Given the description of an element on the screen output the (x, y) to click on. 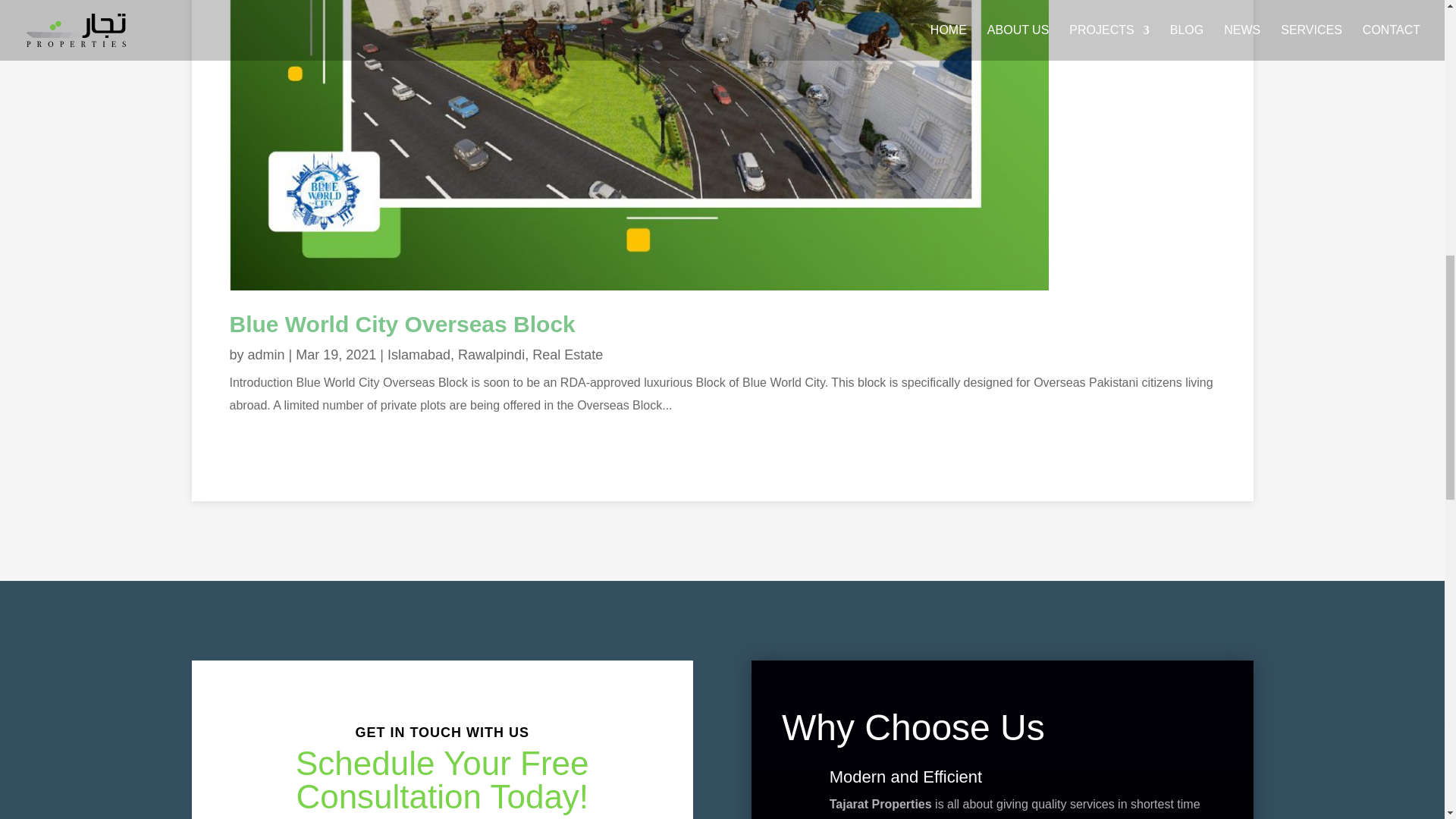
Real Estate (567, 354)
Islamabad (418, 354)
Rawalpindi (491, 354)
Posts by admin (266, 354)
Blue World City Overseas Block (401, 324)
admin (266, 354)
